Given the description of an element on the screen output the (x, y) to click on. 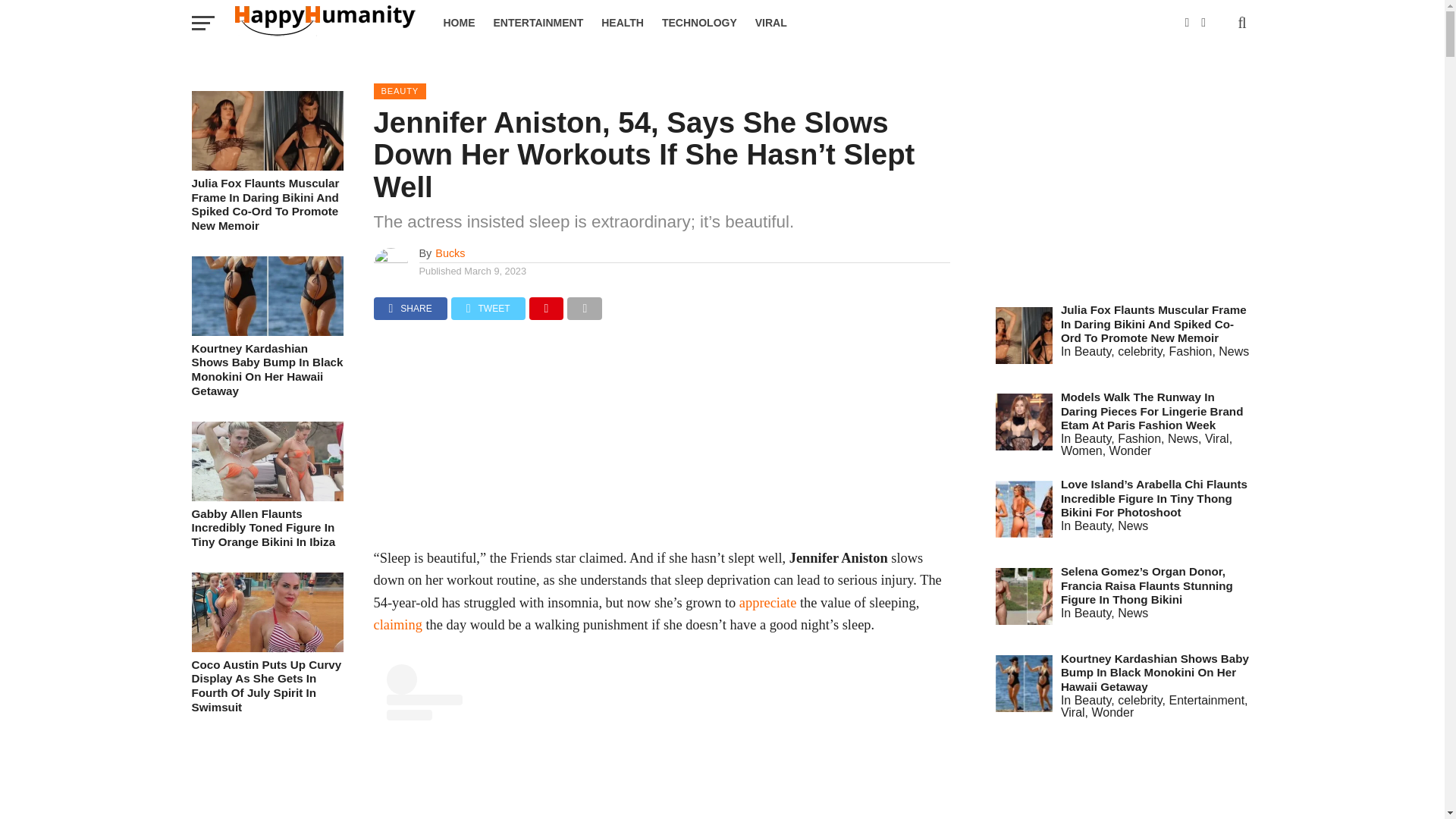
HOME (458, 22)
VIRAL (770, 22)
ENTERTAINMENT (537, 22)
Bucks (449, 253)
Posts by Bucks (449, 253)
HEALTH (622, 22)
Advertisement (660, 440)
TECHNOLOGY (698, 22)
